Given the description of an element on the screen output the (x, y) to click on. 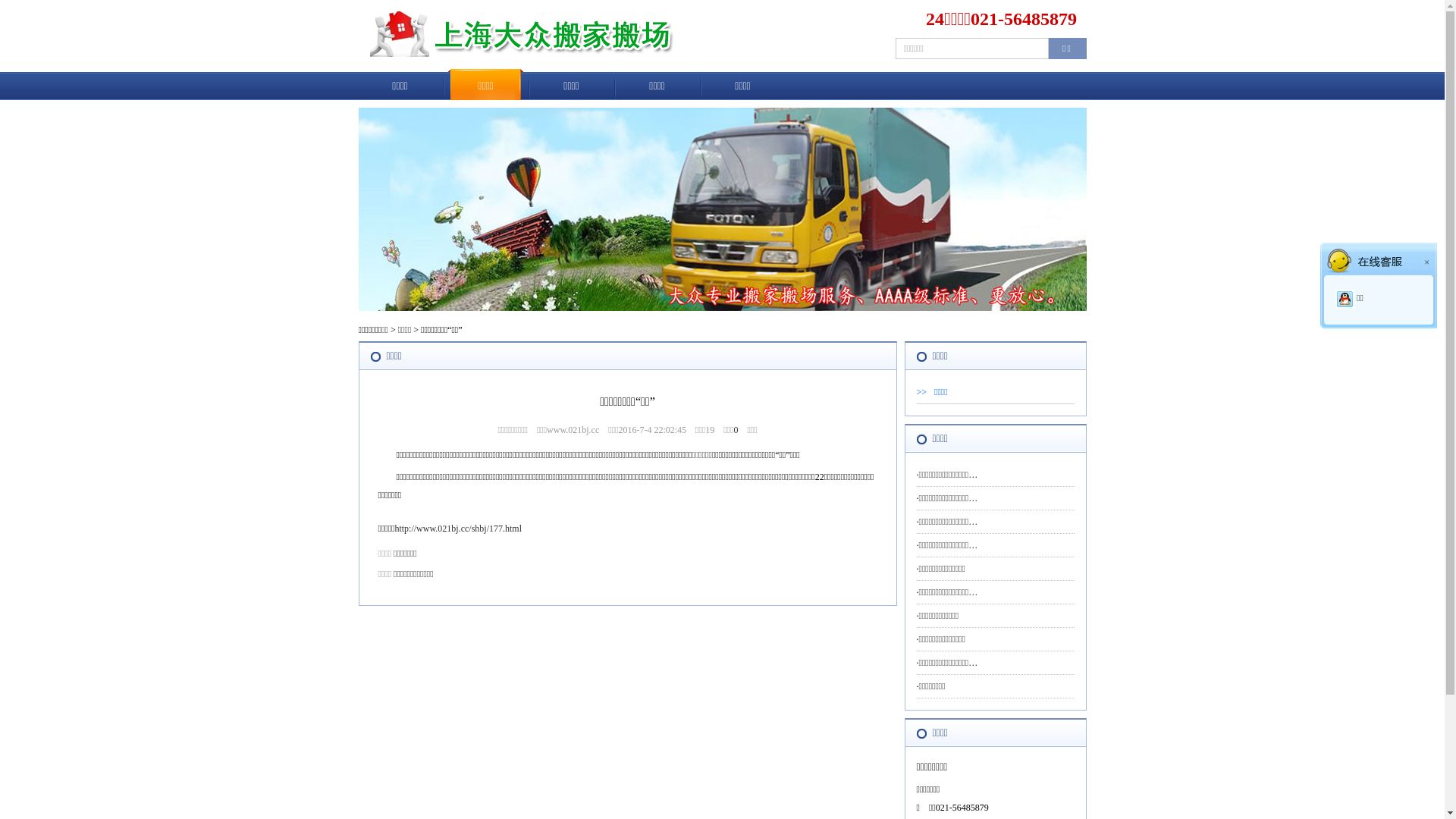
0 Element type: text (735, 429)
http://www.021bj.cc/shbj/177.html Element type: text (457, 528)
